Given the description of an element on the screen output the (x, y) to click on. 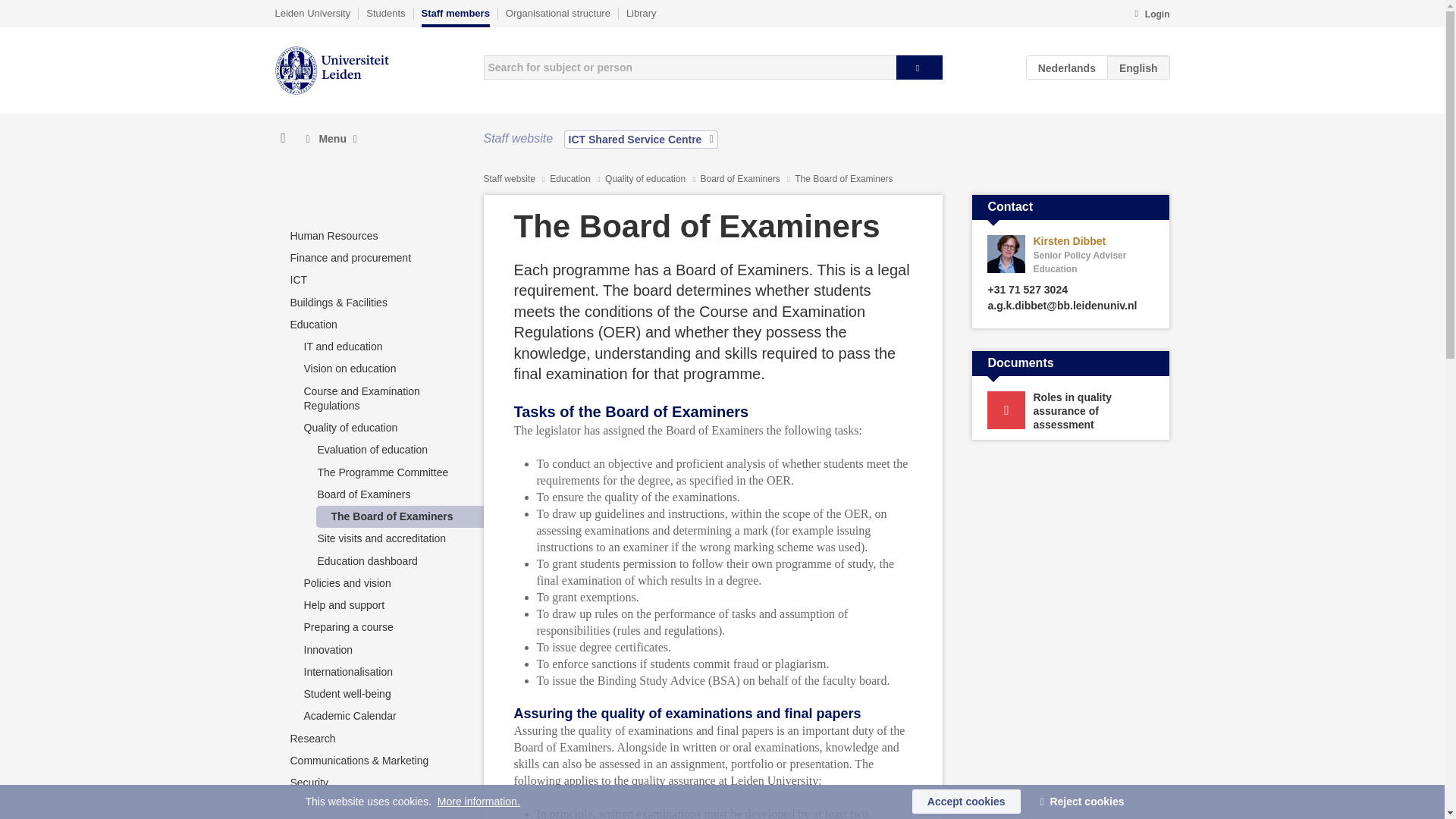
Board of Examiners (741, 178)
NL (1067, 67)
Students (385, 13)
Leiden University (312, 13)
Staff website (509, 178)
Quality of education (646, 178)
Login (1151, 14)
Organisational structure (557, 13)
Human Resources (333, 235)
Library (641, 13)
Staff members (455, 17)
Menu (330, 139)
Human Resources (333, 235)
Search (919, 67)
Education (571, 178)
